Given the description of an element on the screen output the (x, y) to click on. 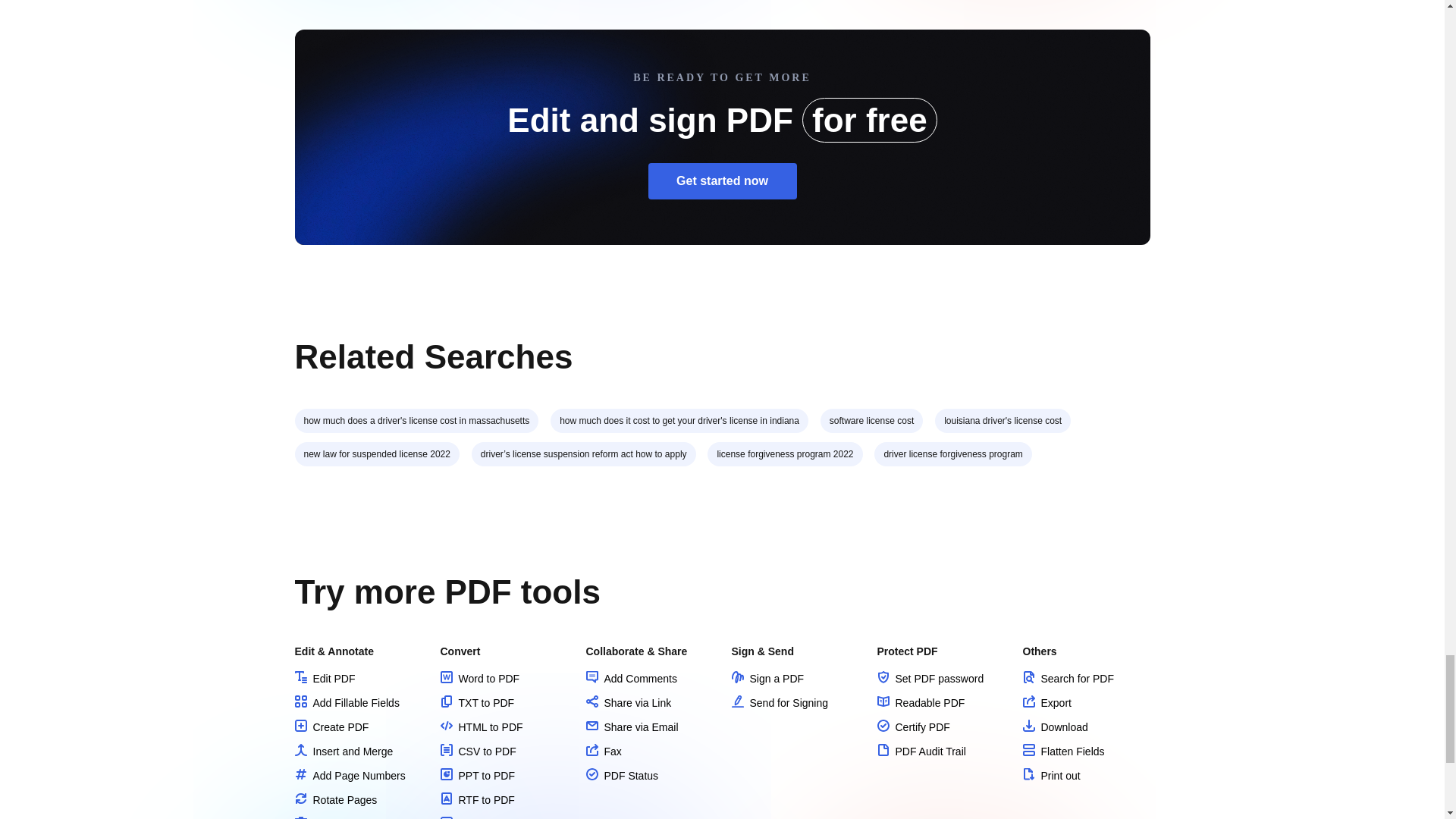
Edit PDF (324, 678)
PDF Status (621, 775)
Add Fillable Fields (346, 702)
Share via Link (628, 702)
Share via Email (631, 727)
PPT to PDF (476, 775)
Create PDF (331, 727)
Add Comments (631, 678)
HTML to PDF (480, 727)
Fax (603, 751)
Rotate Pages (335, 799)
RTF to PDF (476, 799)
Add Page Numbers (349, 775)
Insert and Merge (343, 751)
